Given the description of an element on the screen output the (x, y) to click on. 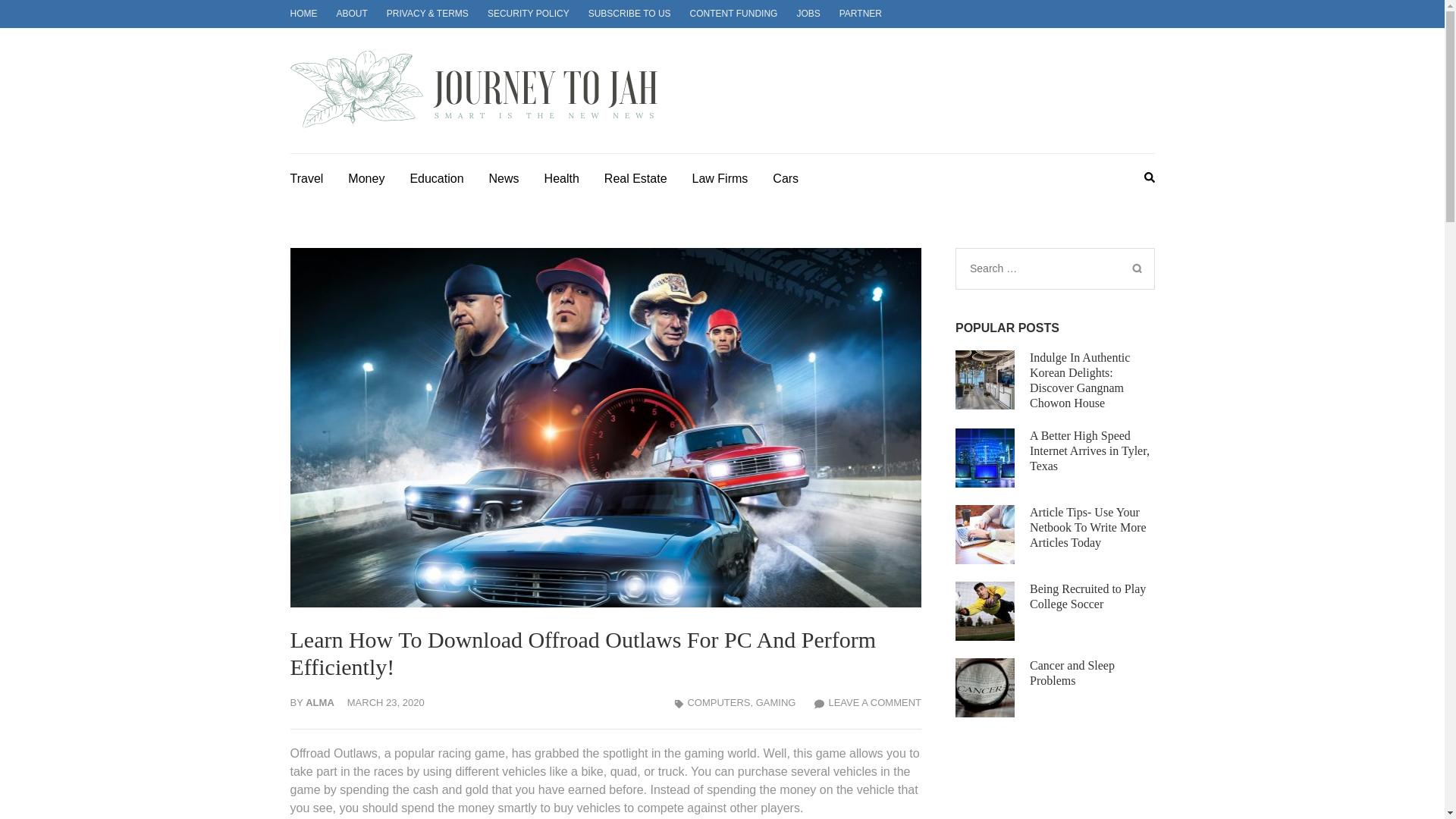
JOBS (807, 13)
Real Estate (635, 176)
Law Firms (720, 176)
Search (1136, 268)
ABOUT (352, 13)
SUBSCRIBE TO US (629, 13)
HOME (303, 13)
Education (436, 176)
CONTENT FUNDING (733, 13)
JOURNEY TO JAH (807, 106)
